Given the description of an element on the screen output the (x, y) to click on. 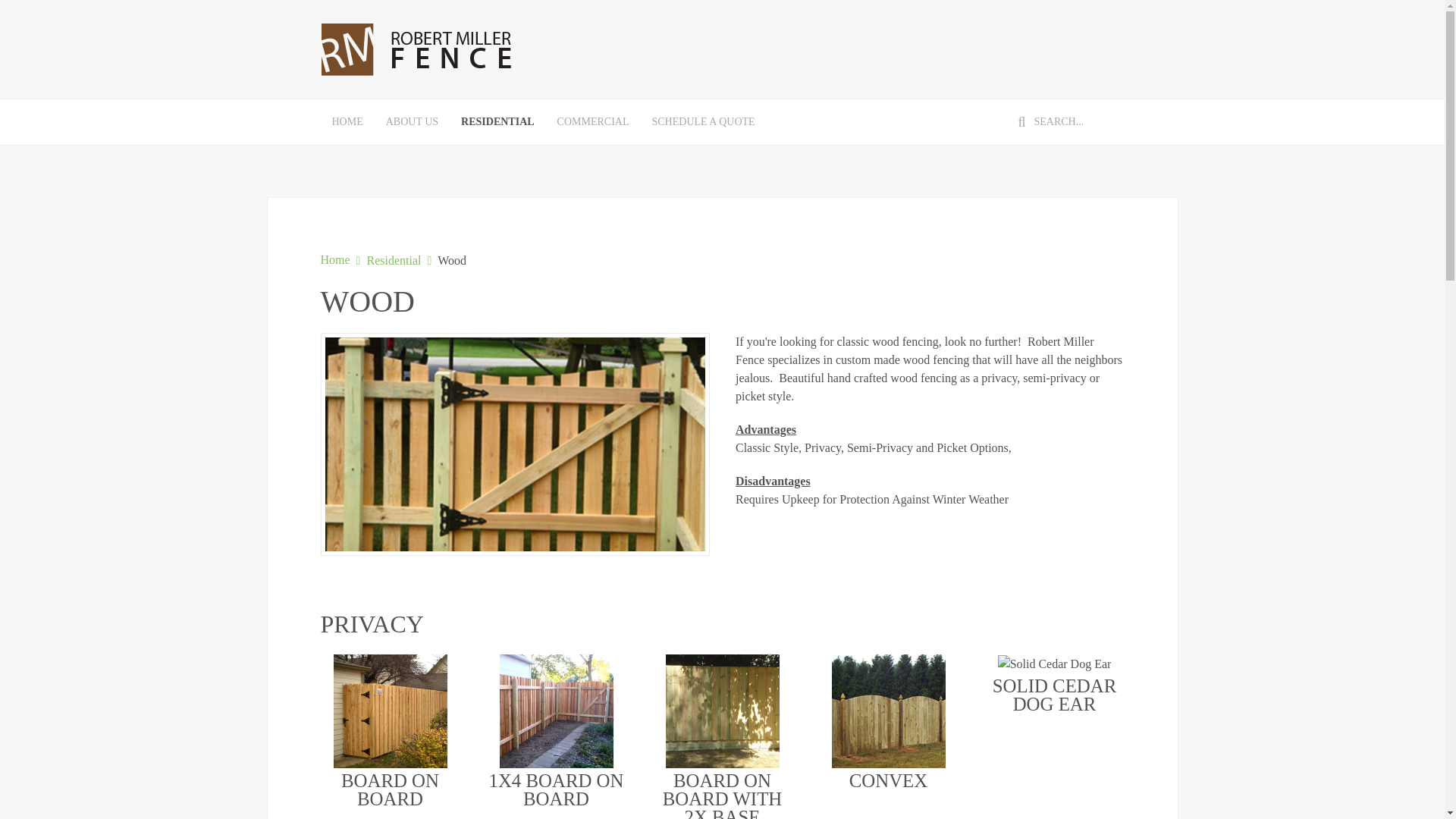
Home (334, 259)
HOME (347, 121)
SCHEDULE A QUOTE (702, 121)
Residential (393, 260)
COMMERCIAL (593, 121)
ABOUT US (411, 121)
RESIDENTIAL (496, 121)
